Given the description of an element on the screen output the (x, y) to click on. 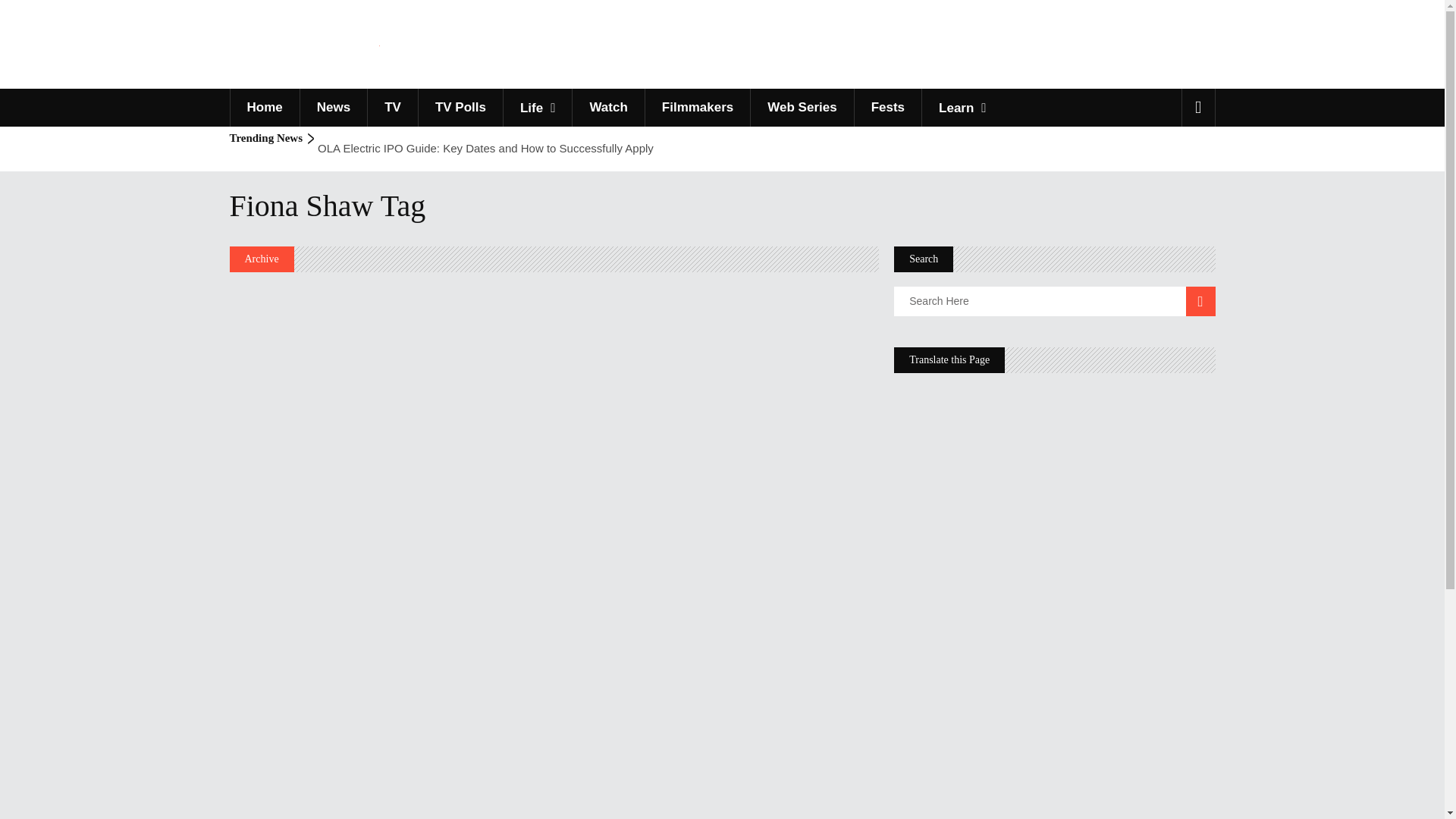
News (332, 107)
TV Polls (459, 107)
Fests (887, 107)
TV (391, 107)
Home (263, 107)
Life (537, 107)
Learn (962, 107)
Web Series (801, 107)
Filmmakers (698, 107)
Watch (607, 107)
